Given the description of an element on the screen output the (x, y) to click on. 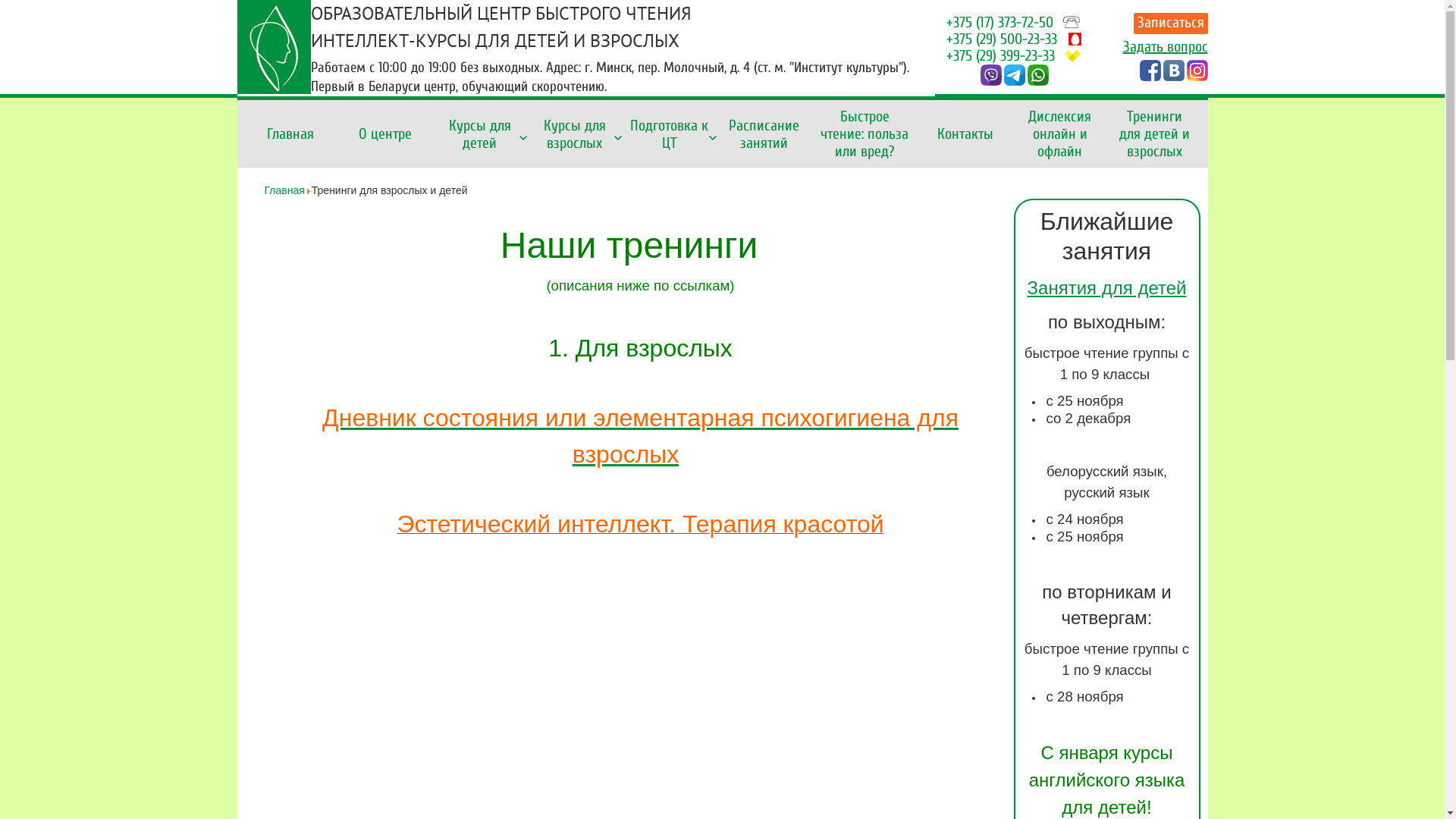
+375 (17) 373-72-50 Element type: text (999, 22)
+375 (29) 399-23-33 Element type: text (1000, 55)
+375 (29) 500-23-33 Element type: text (1001, 38)
